Given the description of an element on the screen output the (x, y) to click on. 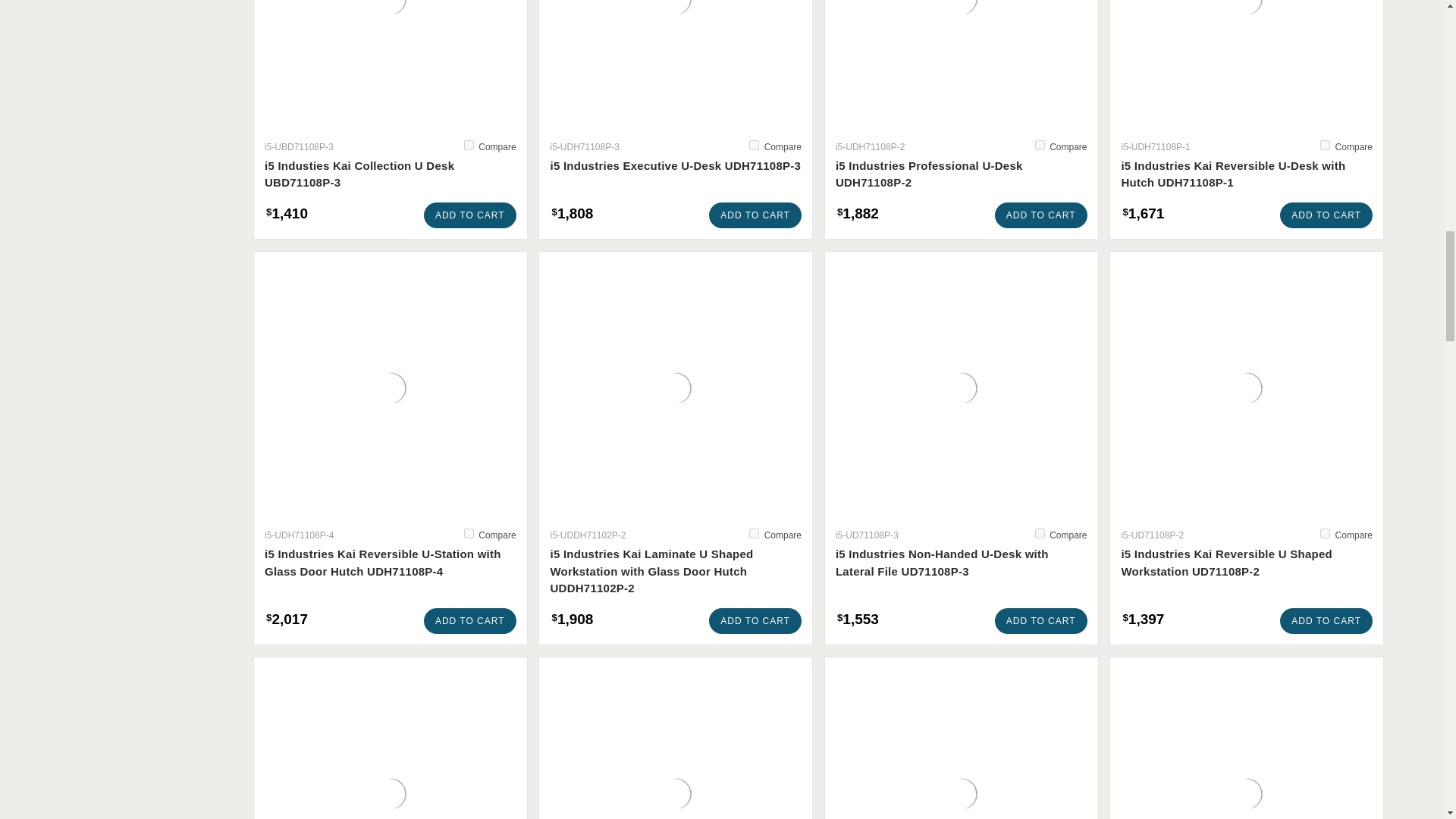
9810 (753, 533)
9813 (1040, 144)
9812 (1325, 144)
9808 (1325, 533)
9814 (753, 144)
9811 (469, 533)
9817 (469, 144)
9809 (1040, 533)
